Given the description of an element on the screen output the (x, y) to click on. 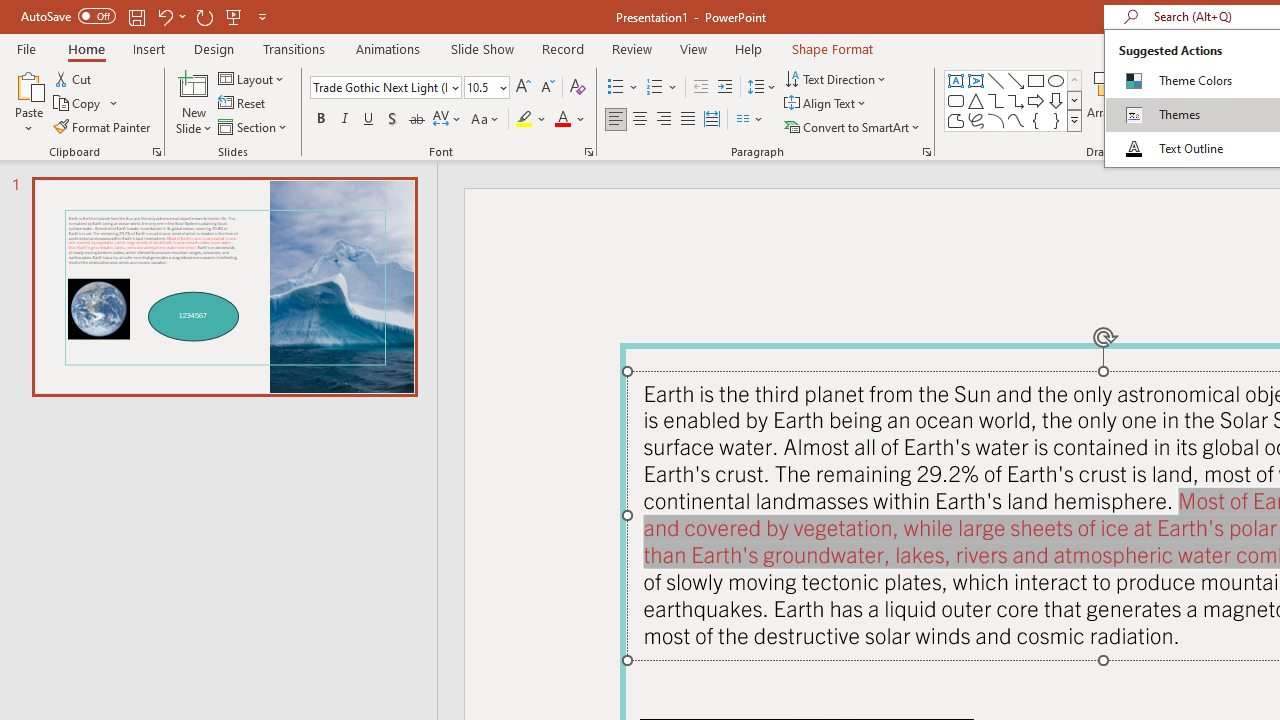
Justify (687, 119)
Bold (320, 119)
Section (254, 126)
Text Highlight Color Yellow (524, 119)
Align Left (616, 119)
Convert to SmartArt (853, 126)
